Given the description of an element on the screen output the (x, y) to click on. 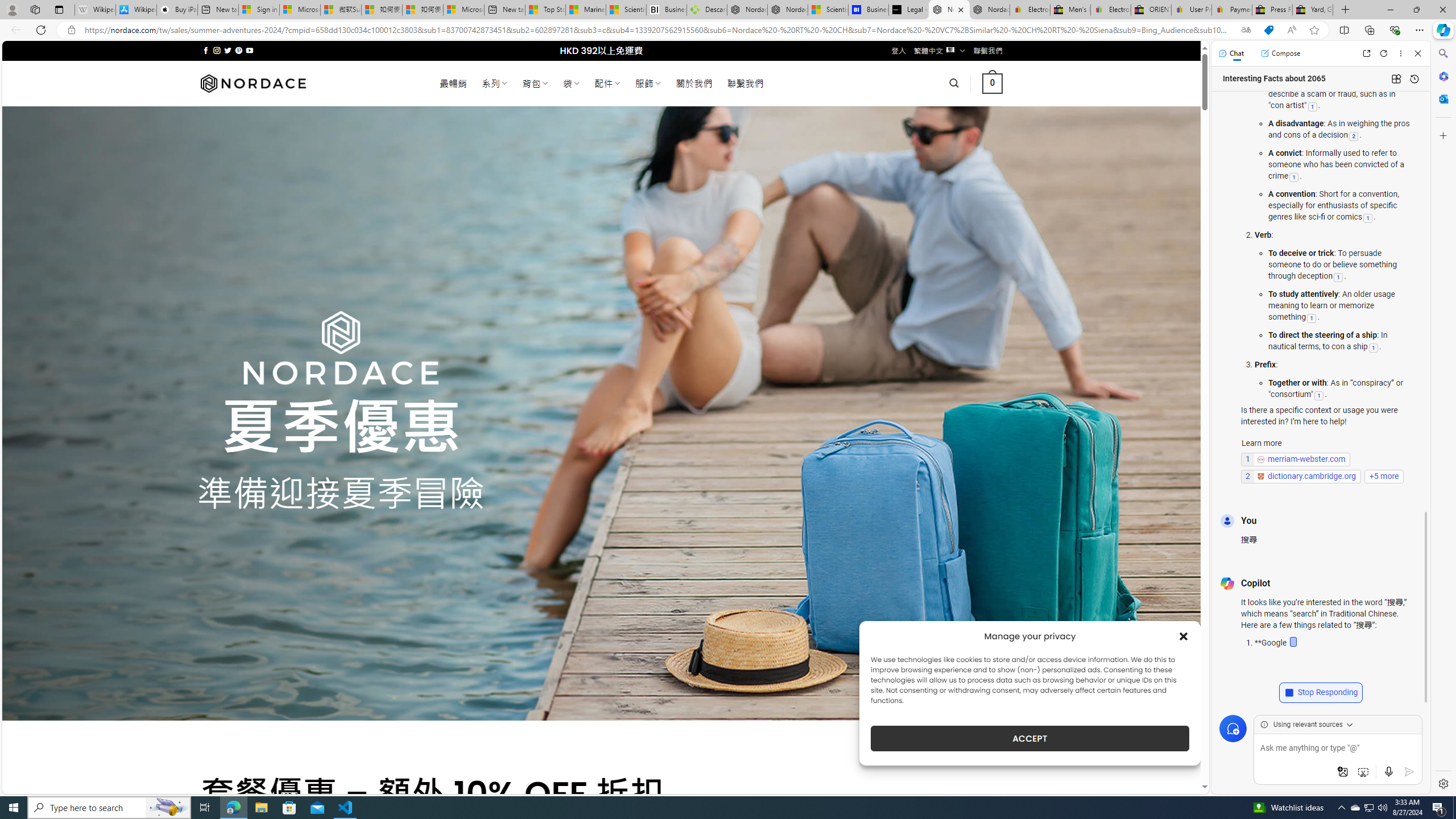
This site has coupons! Shopping in Microsoft Edge (1268, 29)
  0   (992, 83)
Follow on Instagram (216, 50)
